Given the description of an element on the screen output the (x, y) to click on. 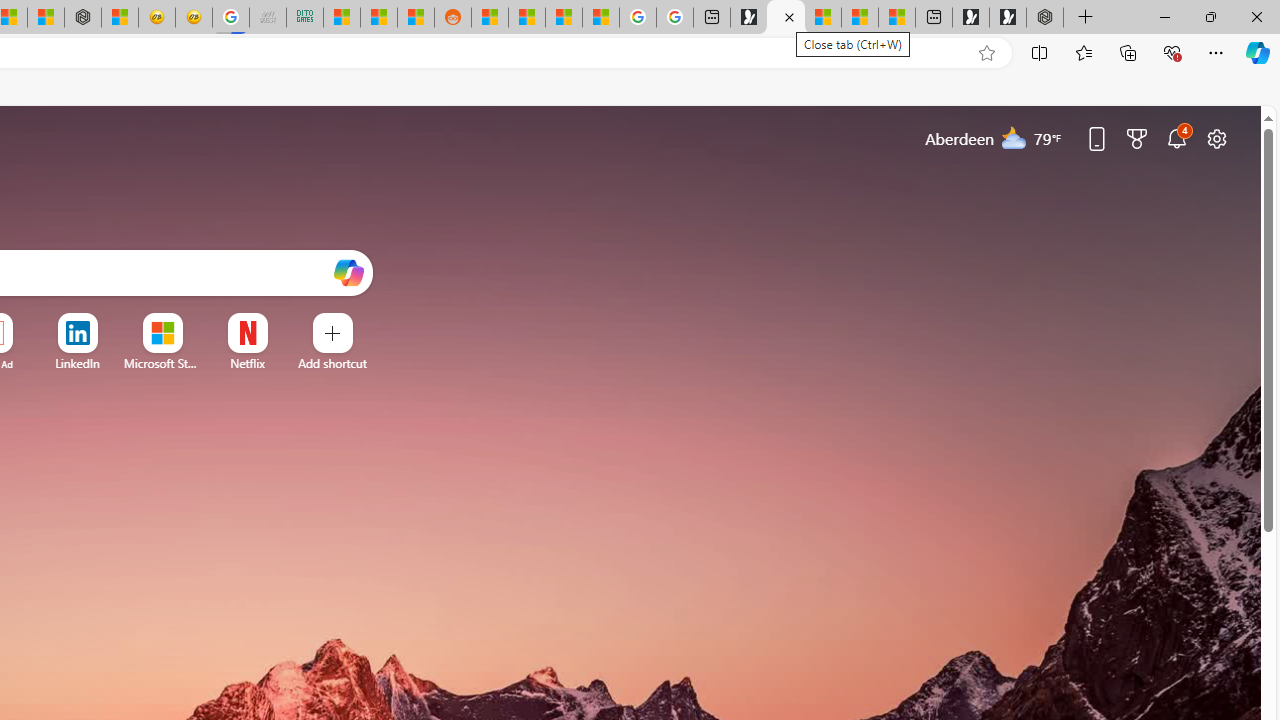
Nordace - #1 Japanese Best-Seller - Siena Smart Backpack (83, 17)
These 3 Stocks Pay You More Than 5% to Own Them (897, 17)
Mostly cloudy (1014, 137)
